Given the description of an element on the screen output the (x, y) to click on. 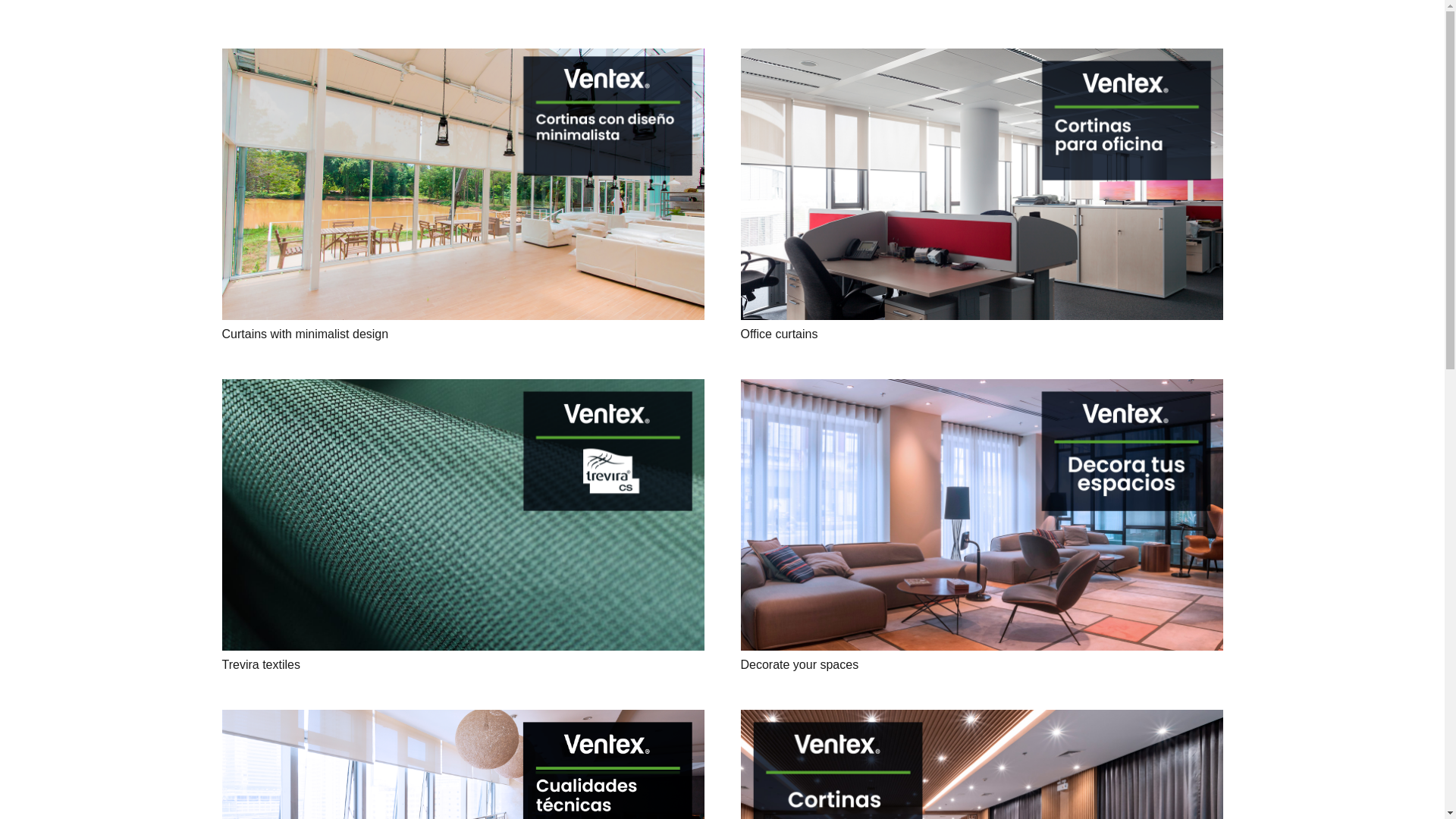
Trevira textiles (260, 664)
Curtains with minimalist design (304, 333)
Decorate your spaces (799, 664)
Office curtains (777, 333)
